Given the description of an element on the screen output the (x, y) to click on. 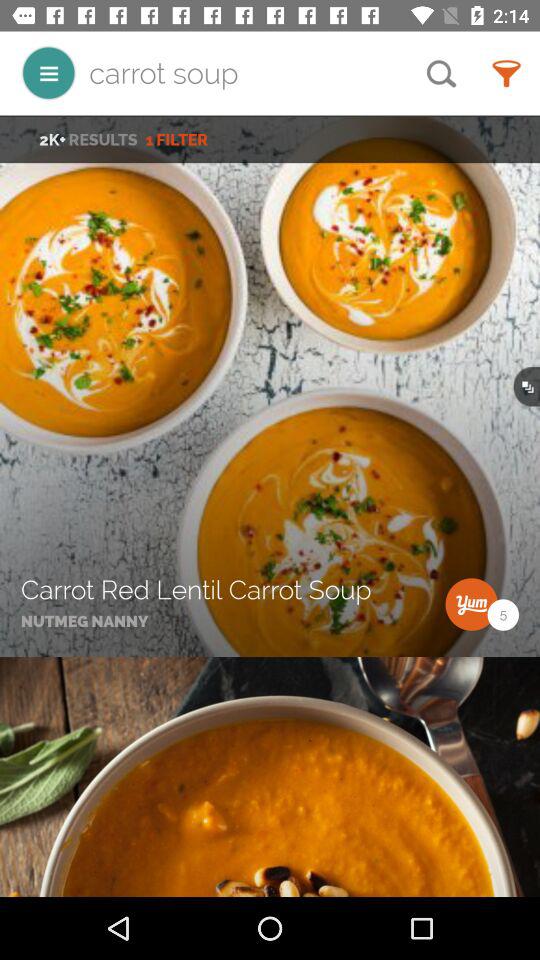
turn off the item next to the carrot soup item (441, 73)
